Given the description of an element on the screen output the (x, y) to click on. 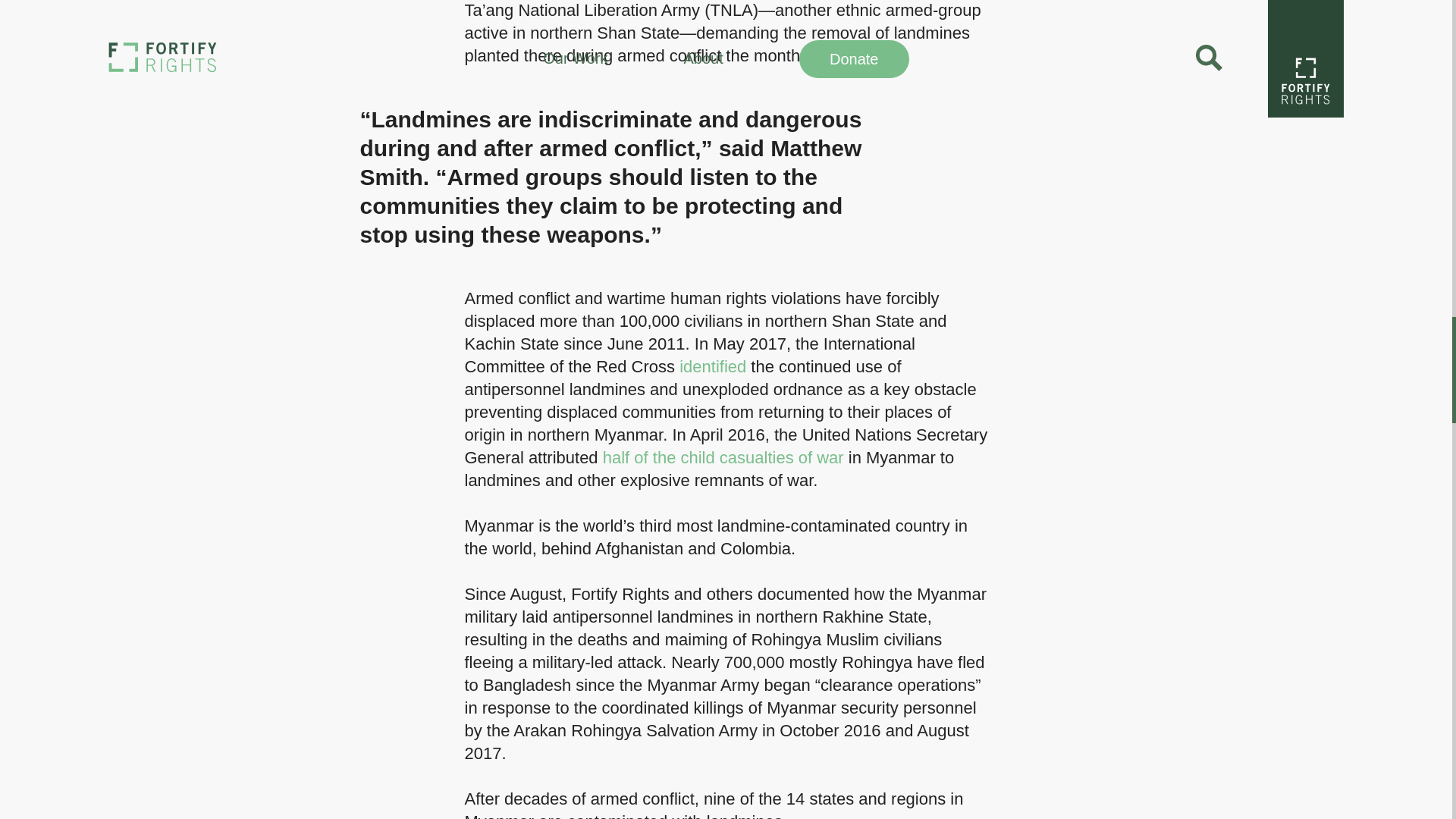
identified (712, 366)
half of the child casualties of war (723, 456)
